Given the description of an element on the screen output the (x, y) to click on. 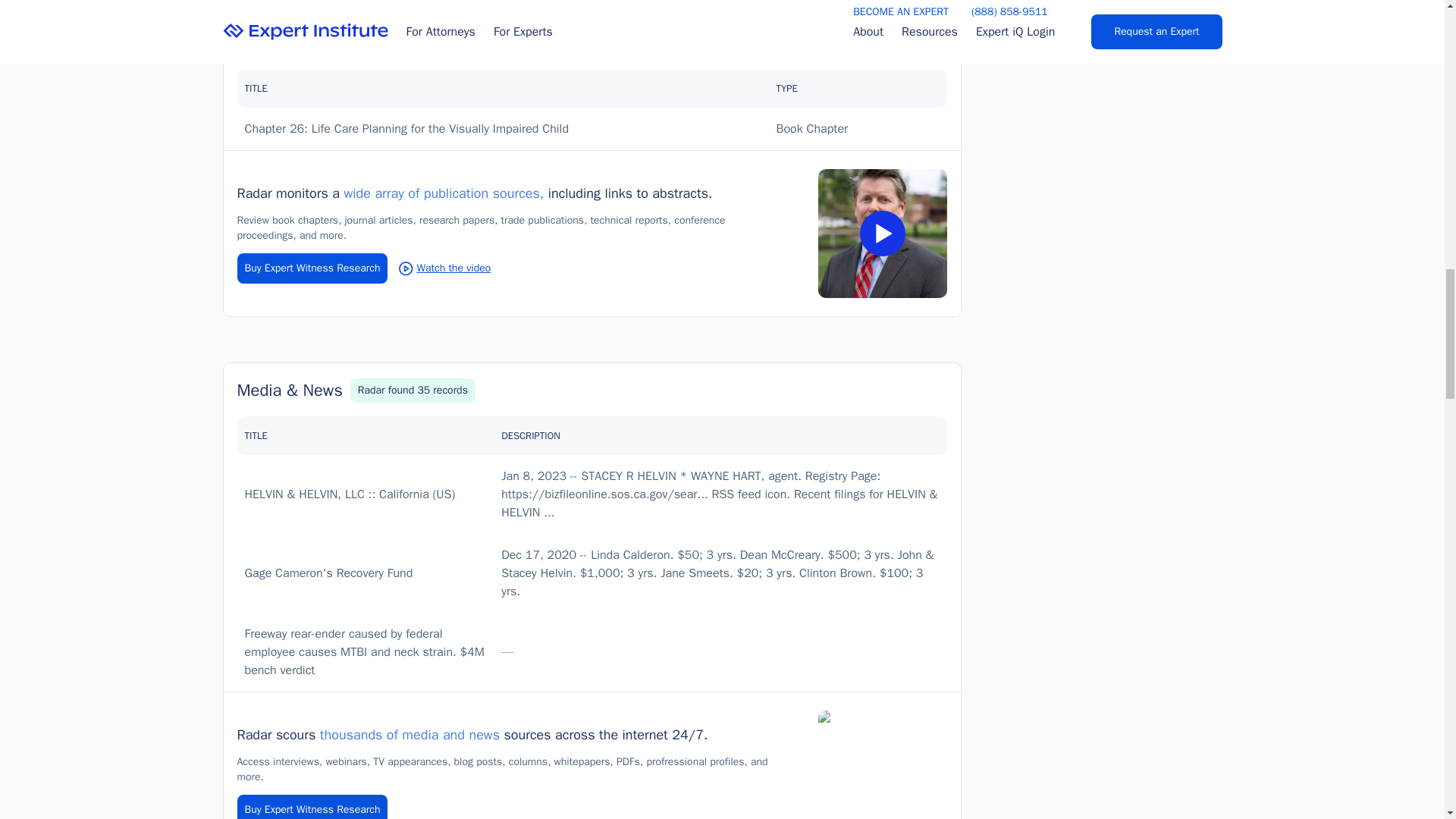
Buy Expert Witness Research (311, 806)
Watch the video (443, 267)
Buy Expert Witness Research (311, 268)
